Given the description of an element on the screen output the (x, y) to click on. 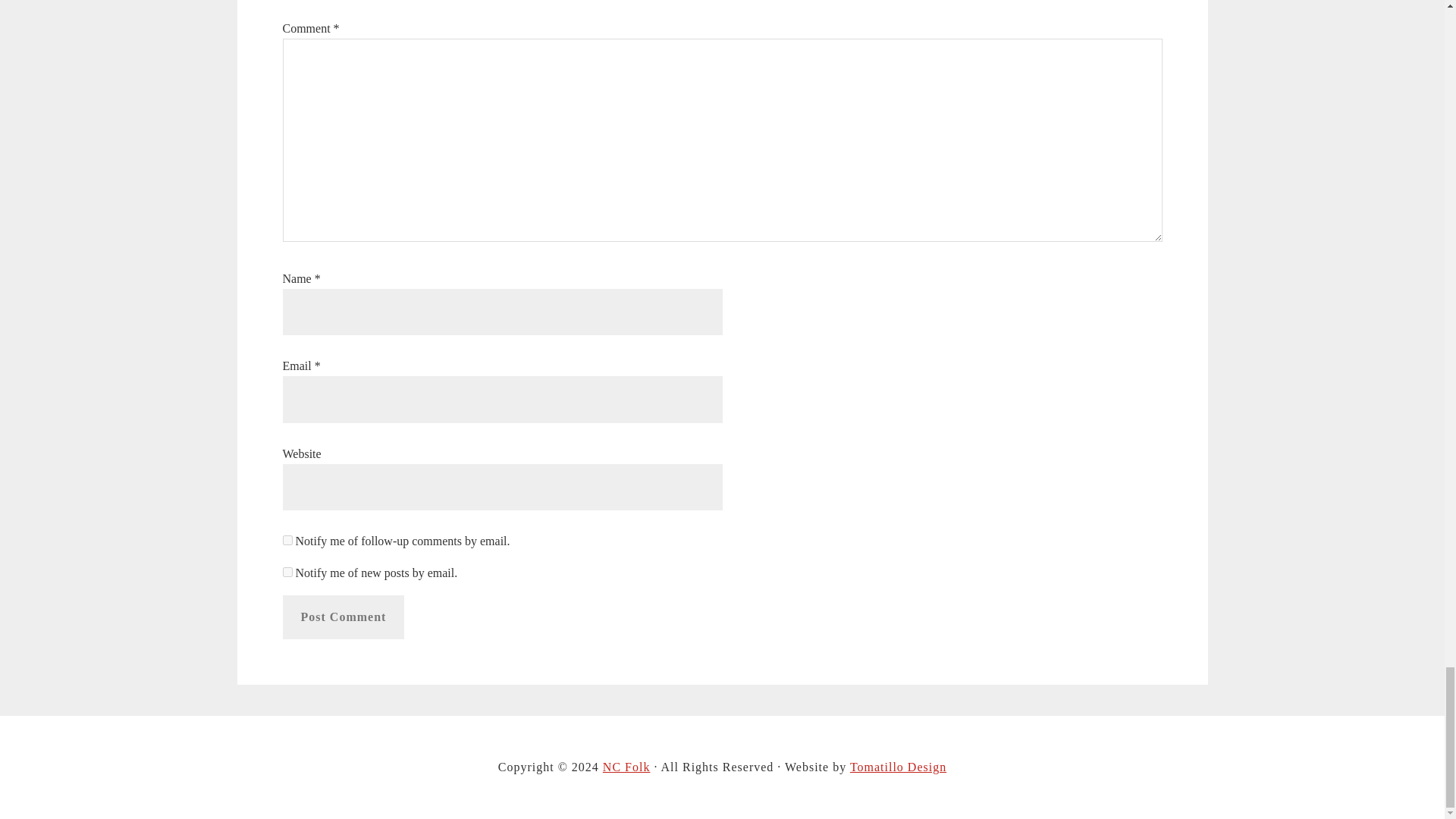
subscribe (287, 572)
subscribe (287, 540)
Beautiful, Affordable Websites for Nonprofits (898, 766)
Post Comment (343, 617)
